Given the description of an element on the screen output the (x, y) to click on. 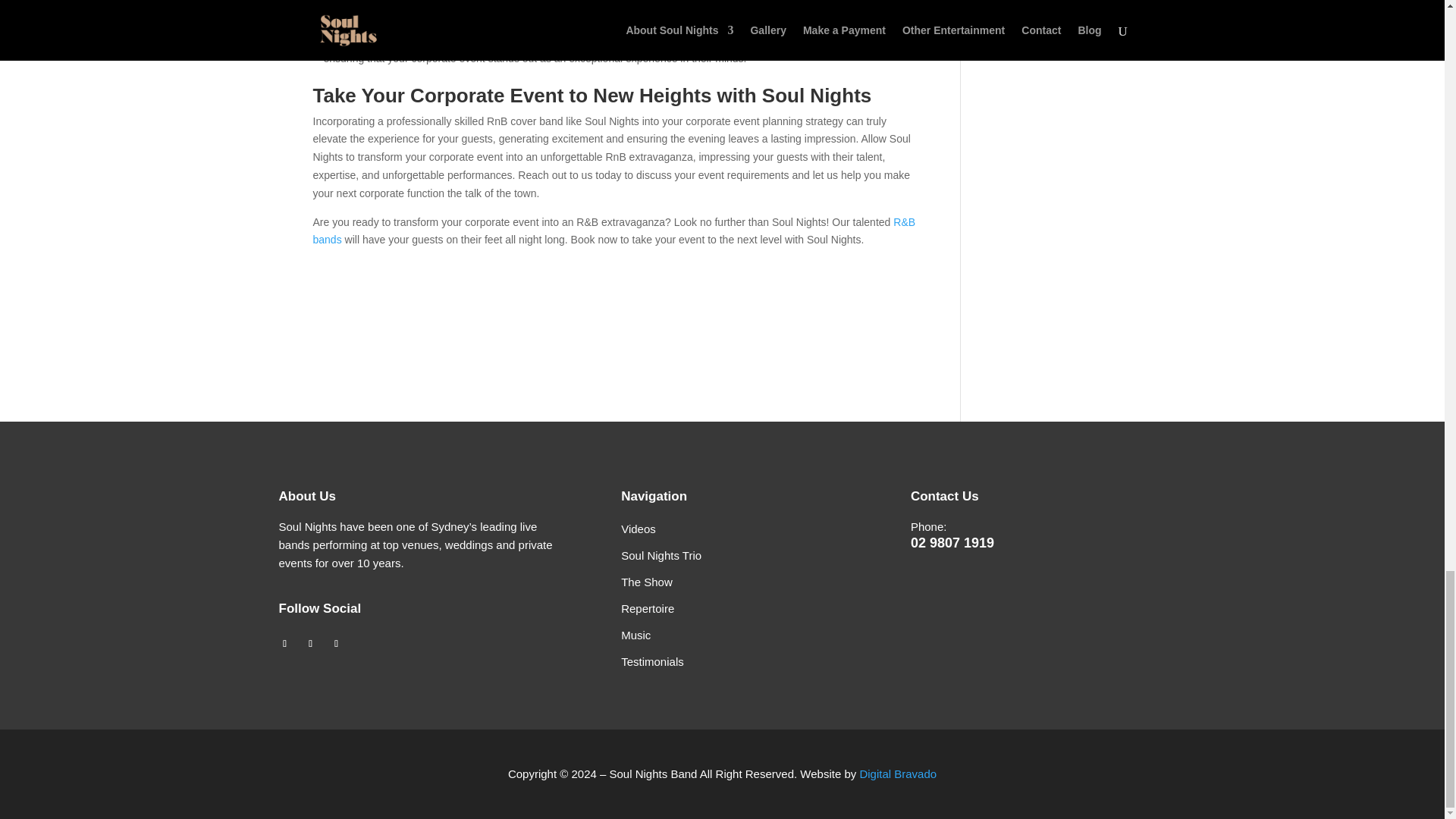
Follow on Instagram (336, 643)
Music  (637, 634)
Soul Nights Trio (661, 554)
Digital Bravado (897, 773)
Follow on Youtube (309, 643)
02 9807 1919 (952, 542)
The Show (646, 581)
Testimonials (652, 661)
Repertoire  (649, 608)
Videos  (640, 528)
